Given the description of an element on the screen output the (x, y) to click on. 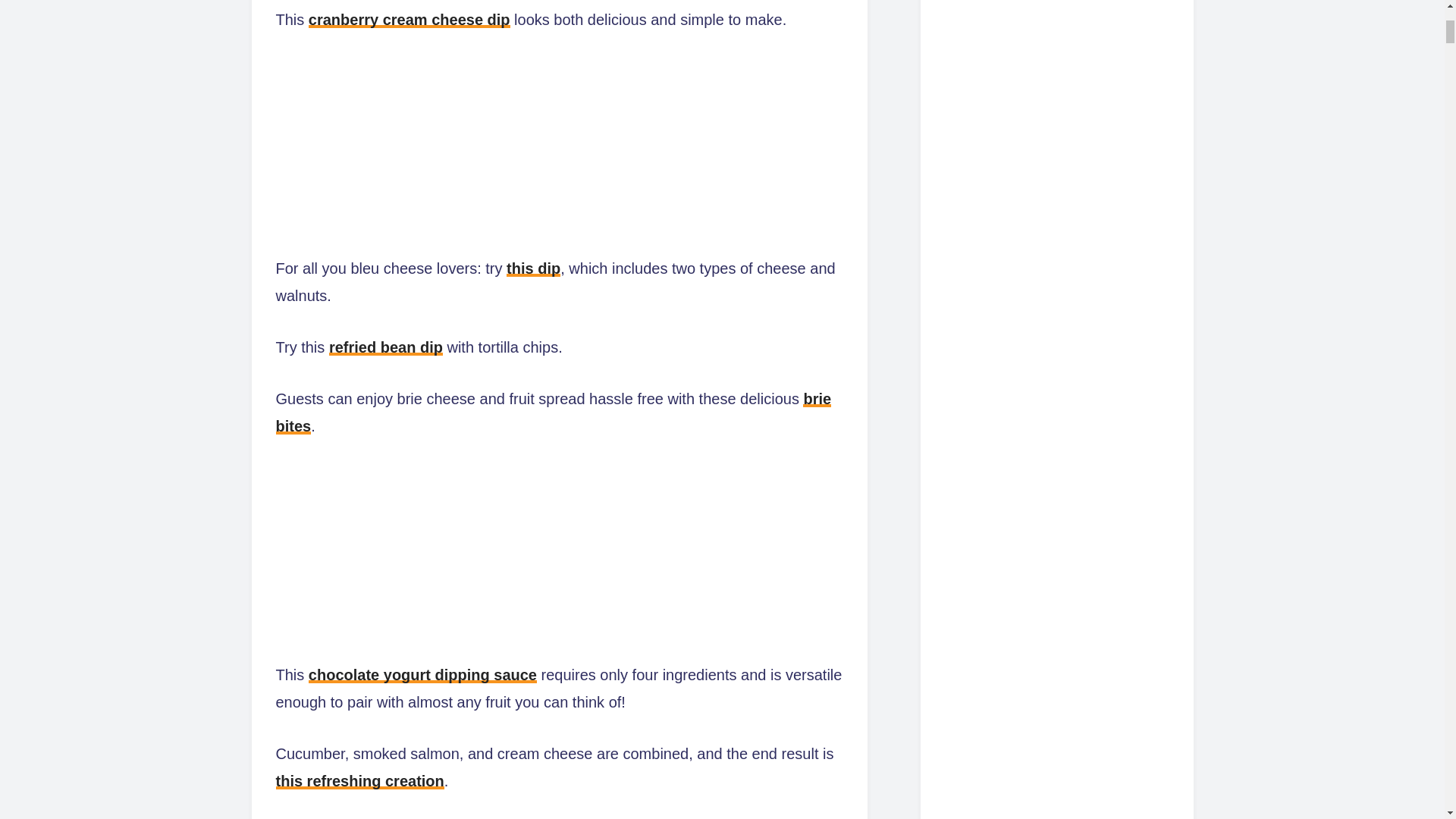
brie bites (553, 412)
cranberry cream cheese dip (409, 19)
chocolate yogurt dipping sauce (422, 674)
refried bean dip (385, 347)
this dip (533, 268)
this refreshing creation (360, 781)
